Given the description of an element on the screen output the (x, y) to click on. 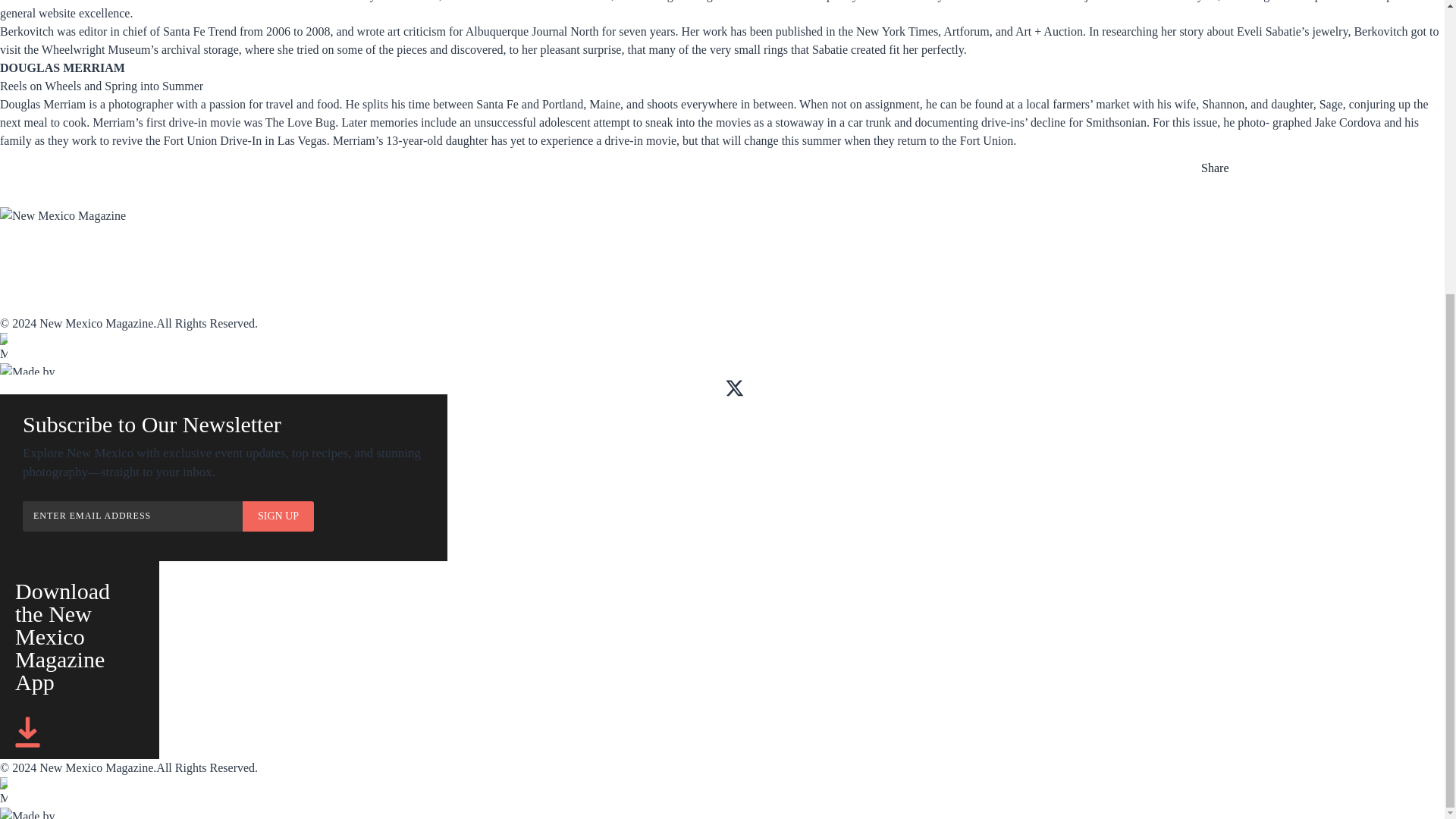
App (154, 254)
Contact Us (32, 304)
Visit our Twitter page (734, 388)
Store (598, 254)
Sitemap (312, 287)
Privacy Policy (333, 304)
Archive (313, 254)
Subscribe (28, 254)
Advertise (464, 254)
About Us (25, 287)
